Given the description of an element on the screen output the (x, y) to click on. 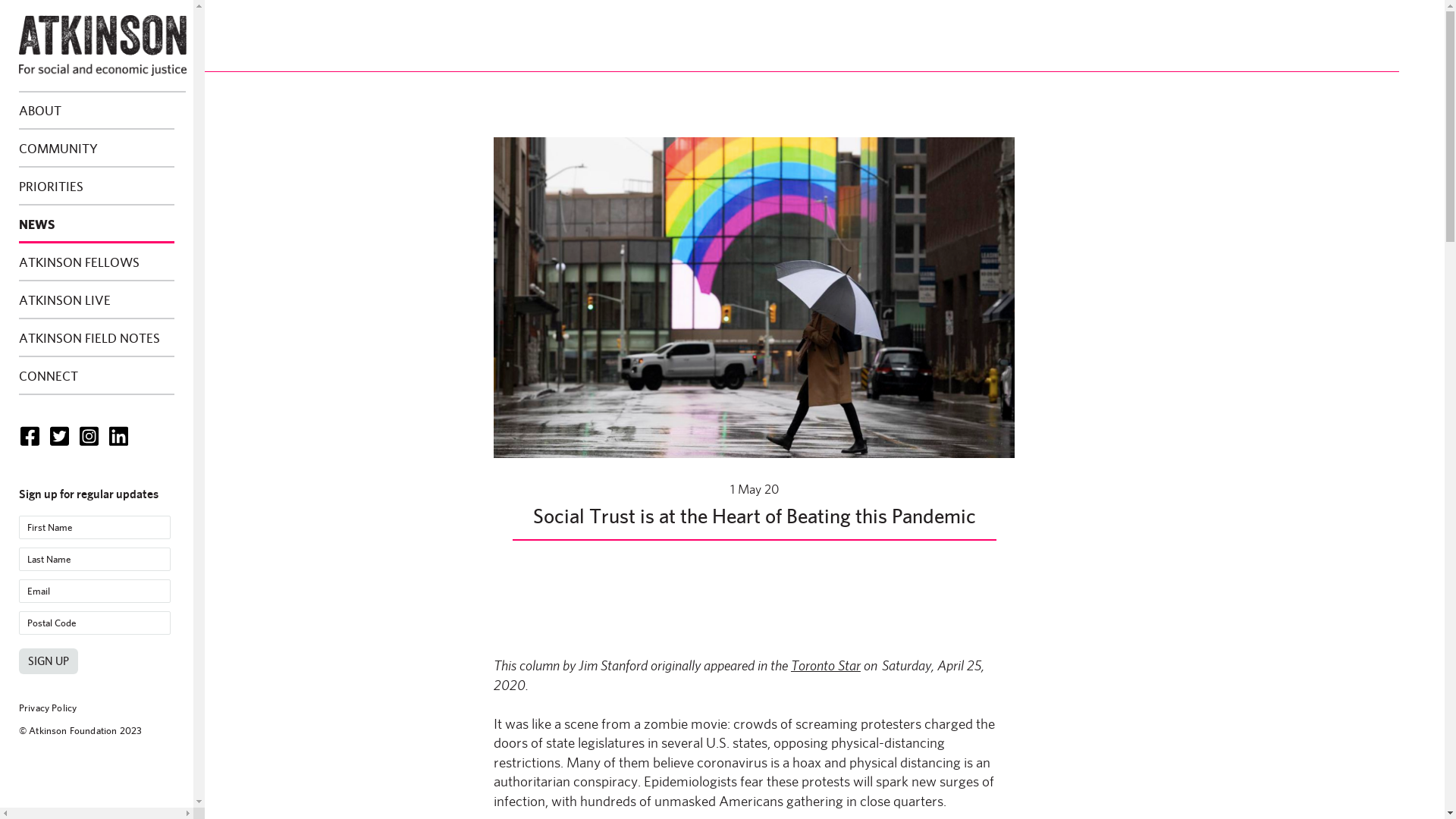
PRIORITIES Element type: text (96, 186)
< NEWS Element type: text (87, 59)
Sign Up Element type: text (48, 661)
Privacy Policy Element type: text (47, 707)
Toronto Star Element type: text (825, 664)
ATKINSON LIVE Element type: text (96, 300)
CONNECT Element type: text (96, 376)
ATKINSON FIELD NOTES Element type: text (96, 338)
ATKINSON FELLOWS Element type: text (96, 262)
COMMUNITY Element type: text (96, 148)
ABOUT Element type: text (96, 110)
NEWS Element type: text (96, 224)
